Given the description of an element on the screen output the (x, y) to click on. 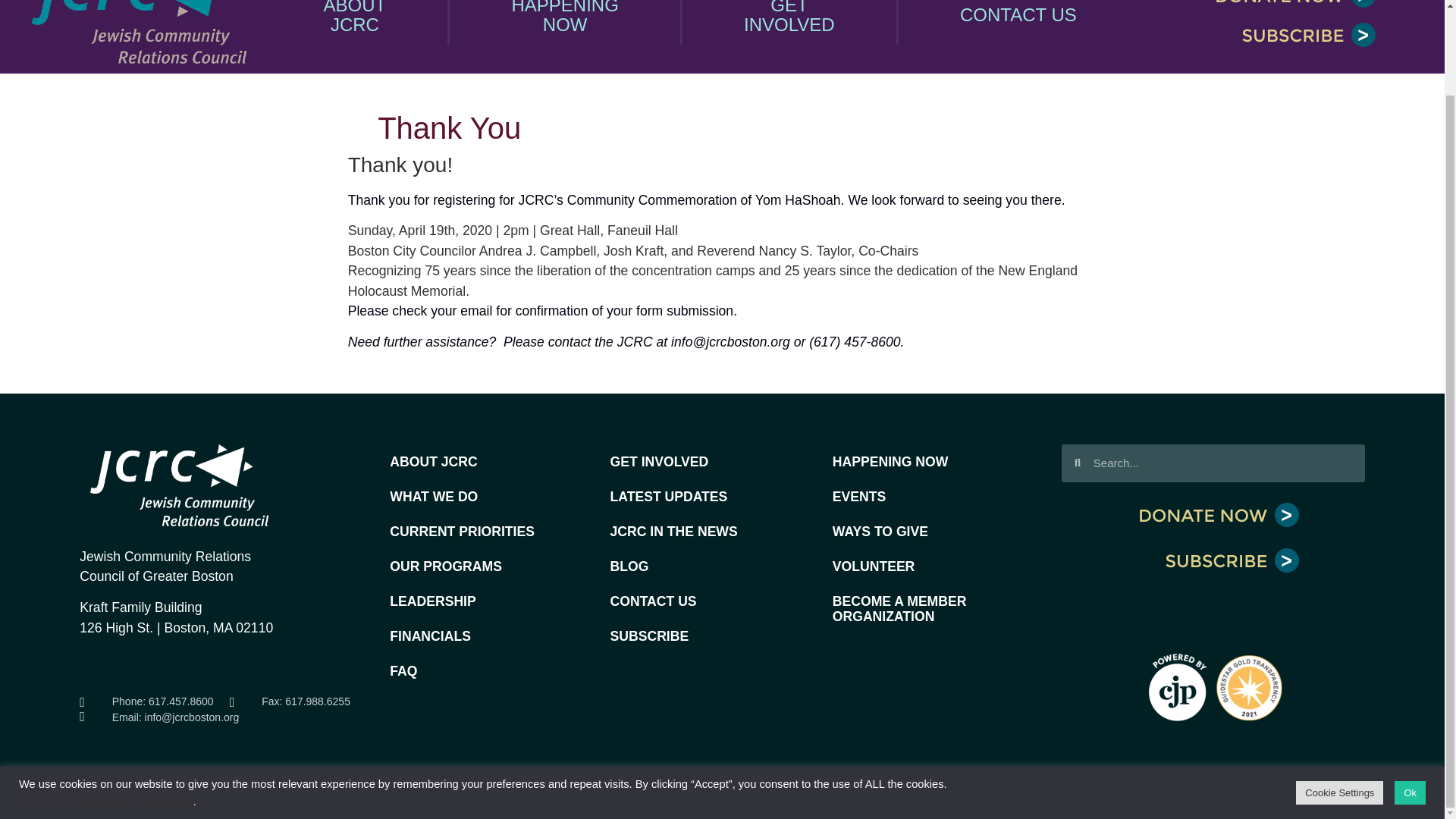
CONTACT US (565, 22)
